Given the description of an element on the screen output the (x, y) to click on. 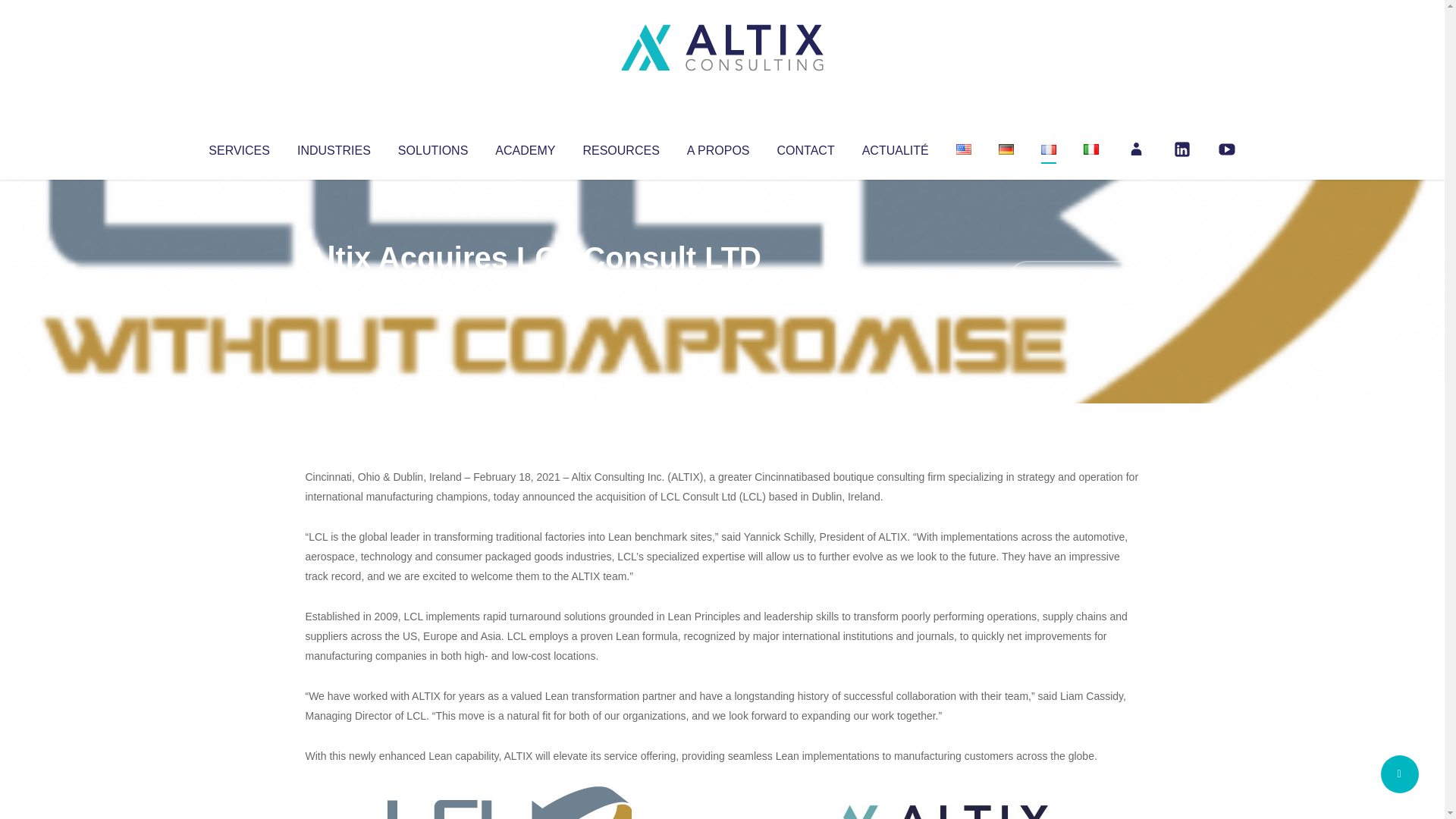
ACADEMY (524, 146)
Articles par Altix (333, 287)
SOLUTIONS (432, 146)
A PROPOS (718, 146)
RESOURCES (620, 146)
Altix (333, 287)
SERVICES (238, 146)
INDUSTRIES (334, 146)
Uncategorized (530, 287)
No Comments (1073, 278)
